Given the description of an element on the screen output the (x, y) to click on. 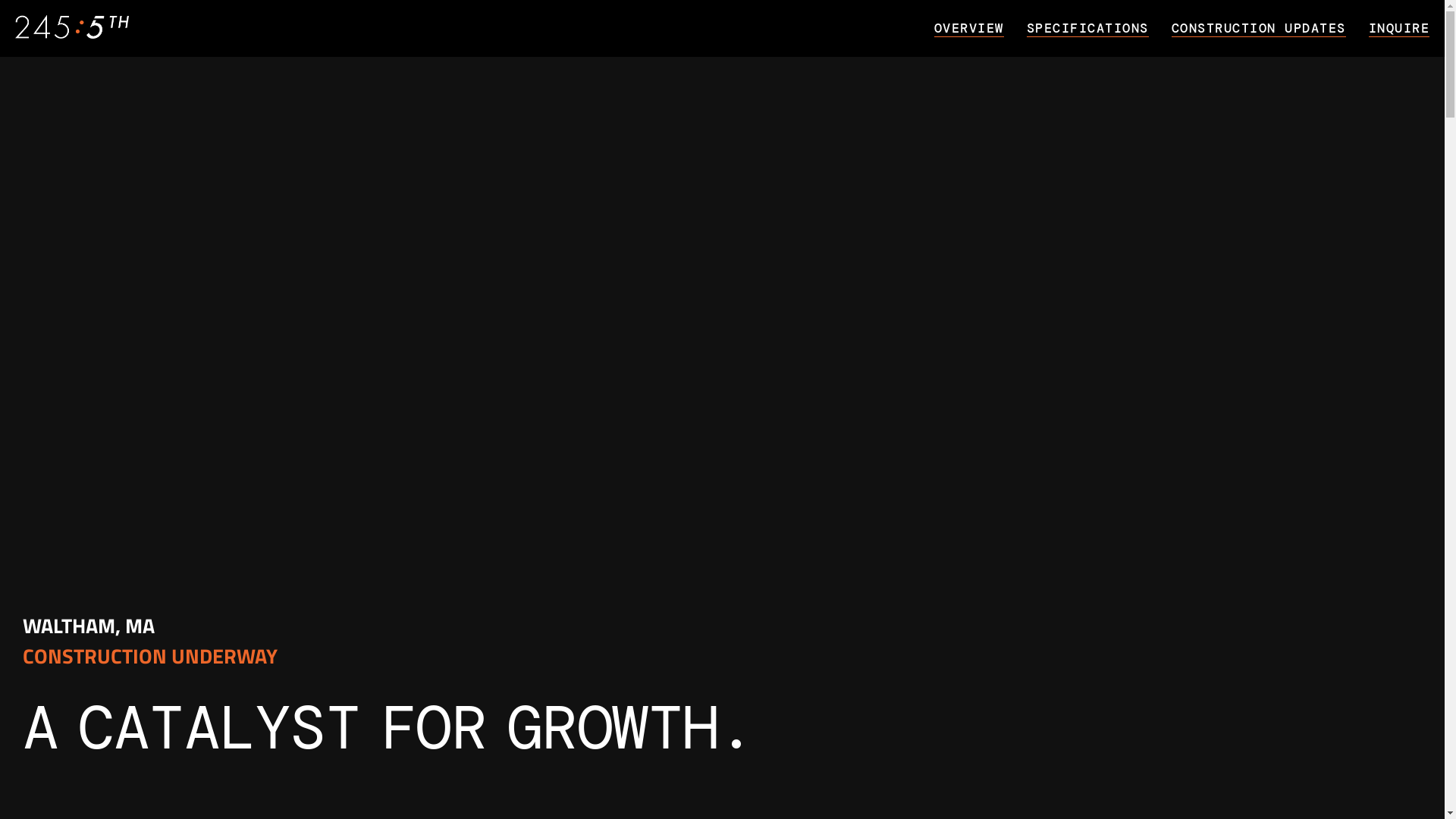
CONSTRUCTION UPDATES Element type: text (1269, 27)
INQUIRE Element type: text (1398, 27)
OVERVIEW Element type: text (980, 27)
SPECIFICATIONS Element type: text (1098, 27)
245 5th Element type: hover (71, 28)
